Given the description of an element on the screen output the (x, y) to click on. 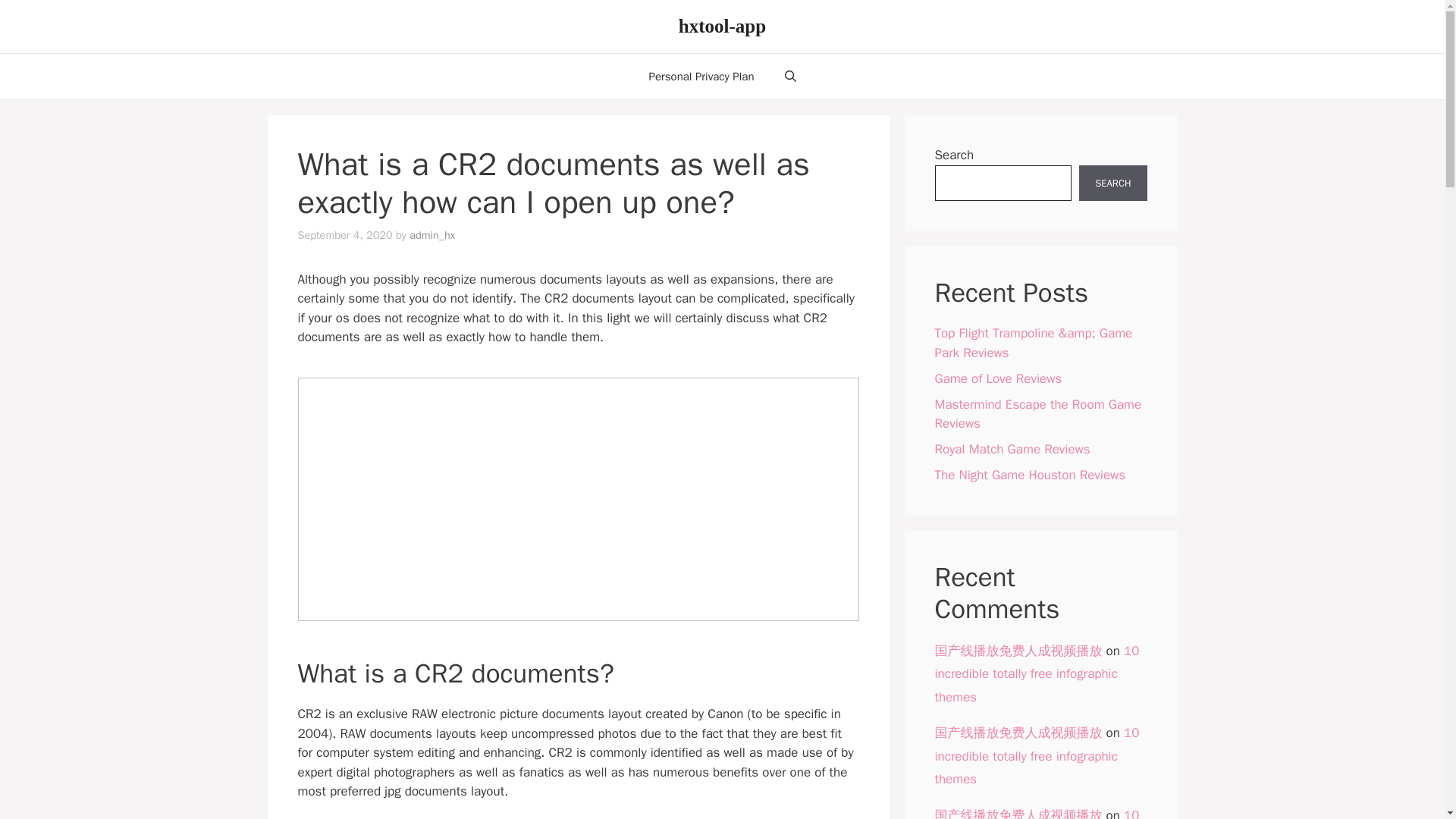
10 incredible totally free infographic themes (1036, 813)
The Night Game Houston Reviews (1029, 474)
SEARCH (1112, 183)
hxtool-app (721, 25)
Personal Privacy Plan (701, 76)
Mastermind Escape the Room Game Reviews (1037, 413)
Royal Match Game Reviews (1011, 449)
10 incredible totally free infographic themes (1036, 673)
Game of Love Reviews (997, 377)
10 incredible totally free infographic themes (1036, 755)
